Given the description of an element on the screen output the (x, y) to click on. 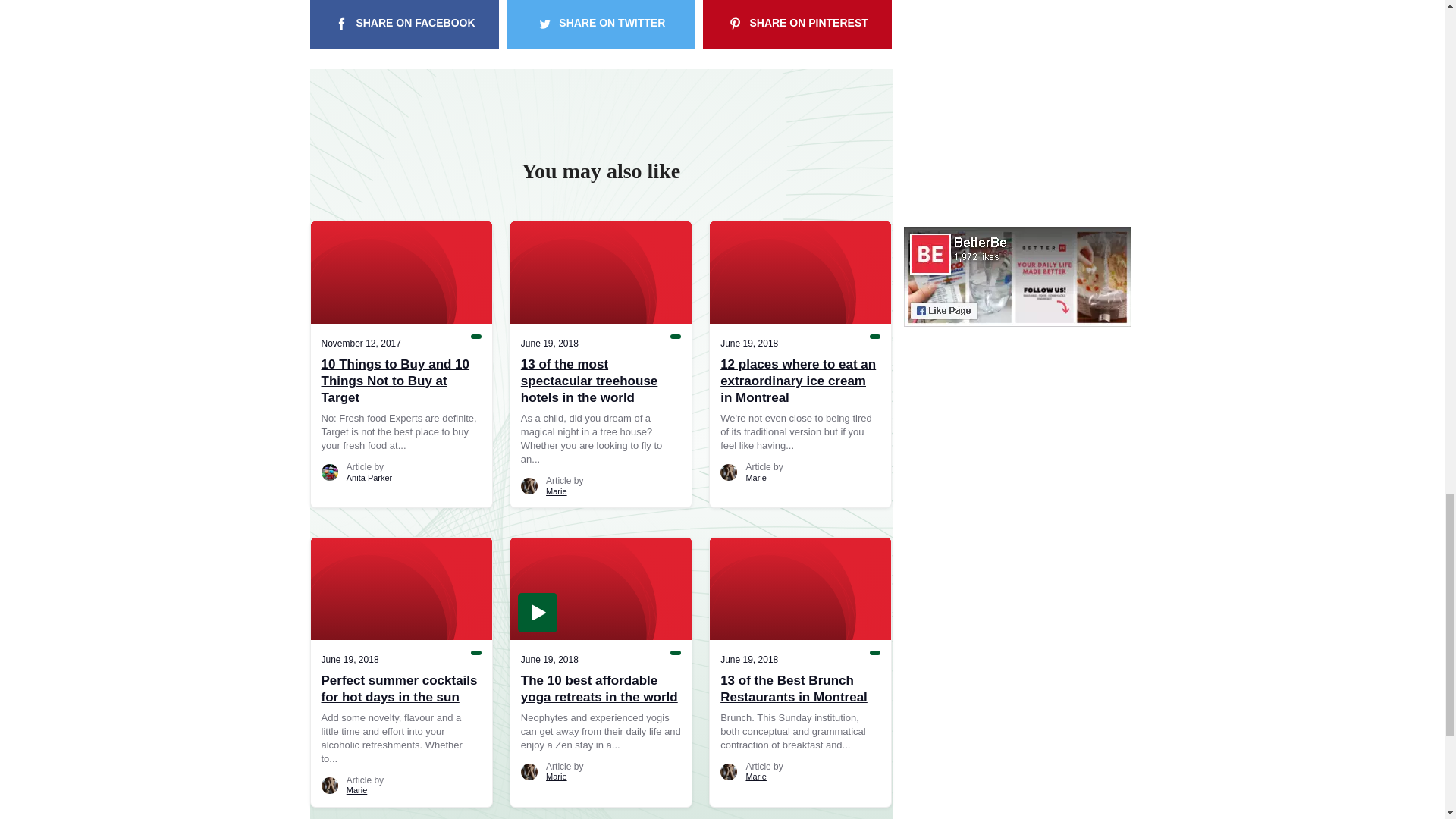
10 Things to Buy and 10 Things Not to Buy at Target (401, 381)
SHARE ON FACEBOOK (402, 23)
SHARE ON TWITTER (600, 23)
Perfect summer cocktails for hot days in the sun (401, 688)
13 of the most spectacular treehouse hotels in the world (601, 381)
Marie (756, 477)
Anita Parker (369, 477)
Marie (556, 491)
SHARE ON PINTEREST (797, 23)
